Given the description of an element on the screen output the (x, y) to click on. 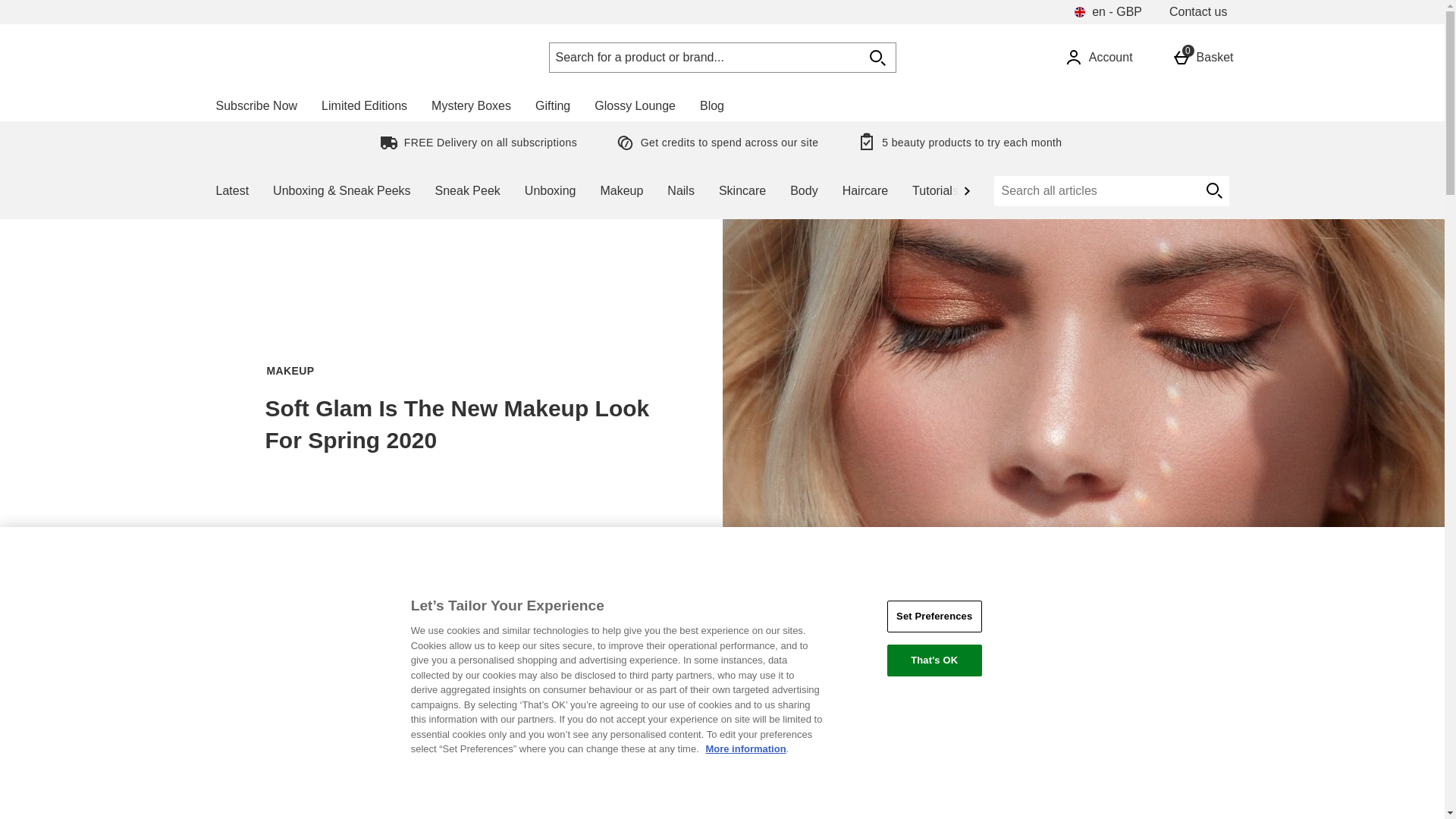
Skip to main content (55, 9)
Search Articles (1095, 191)
Limited Editions (363, 105)
Blog (711, 105)
Unboxing (550, 191)
Share this on WhatsApp (959, 625)
Search for a product or brand... (703, 57)
Gifting (552, 105)
Subscribe Now (255, 105)
start article search (1213, 191)
